Given the description of an element on the screen output the (x, y) to click on. 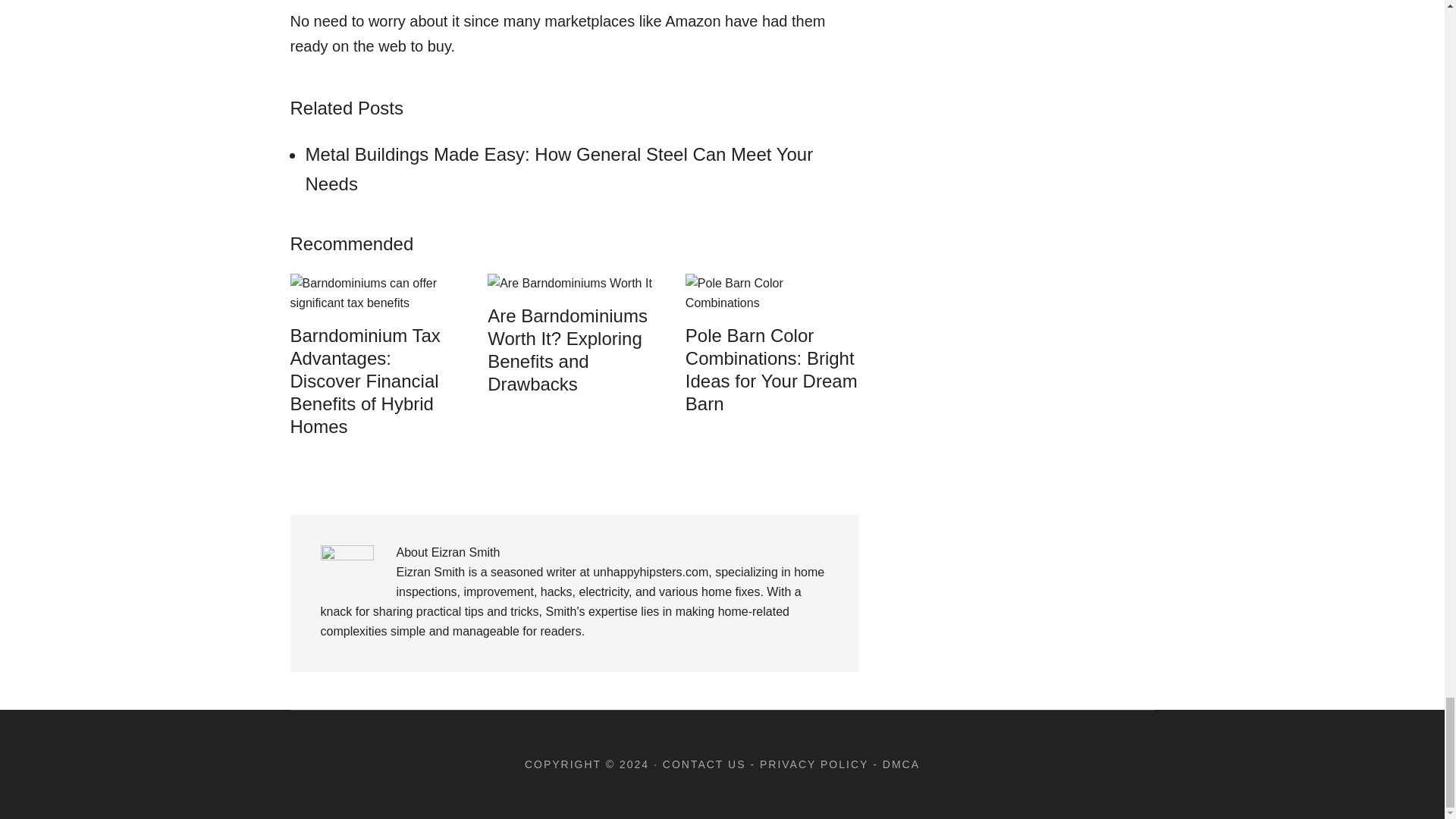
CONTACT US (703, 764)
Are Barndominiums Worth It? Exploring Benefits and Drawbacks (567, 349)
PRIVACY POLICY (813, 764)
Are Barndominiums Worth It? Exploring Benefits and Drawbacks (567, 349)
Are Barndominiums Worth It? Exploring Benefits and Drawbacks (569, 282)
DMCA (901, 764)
